Given the description of an element on the screen output the (x, y) to click on. 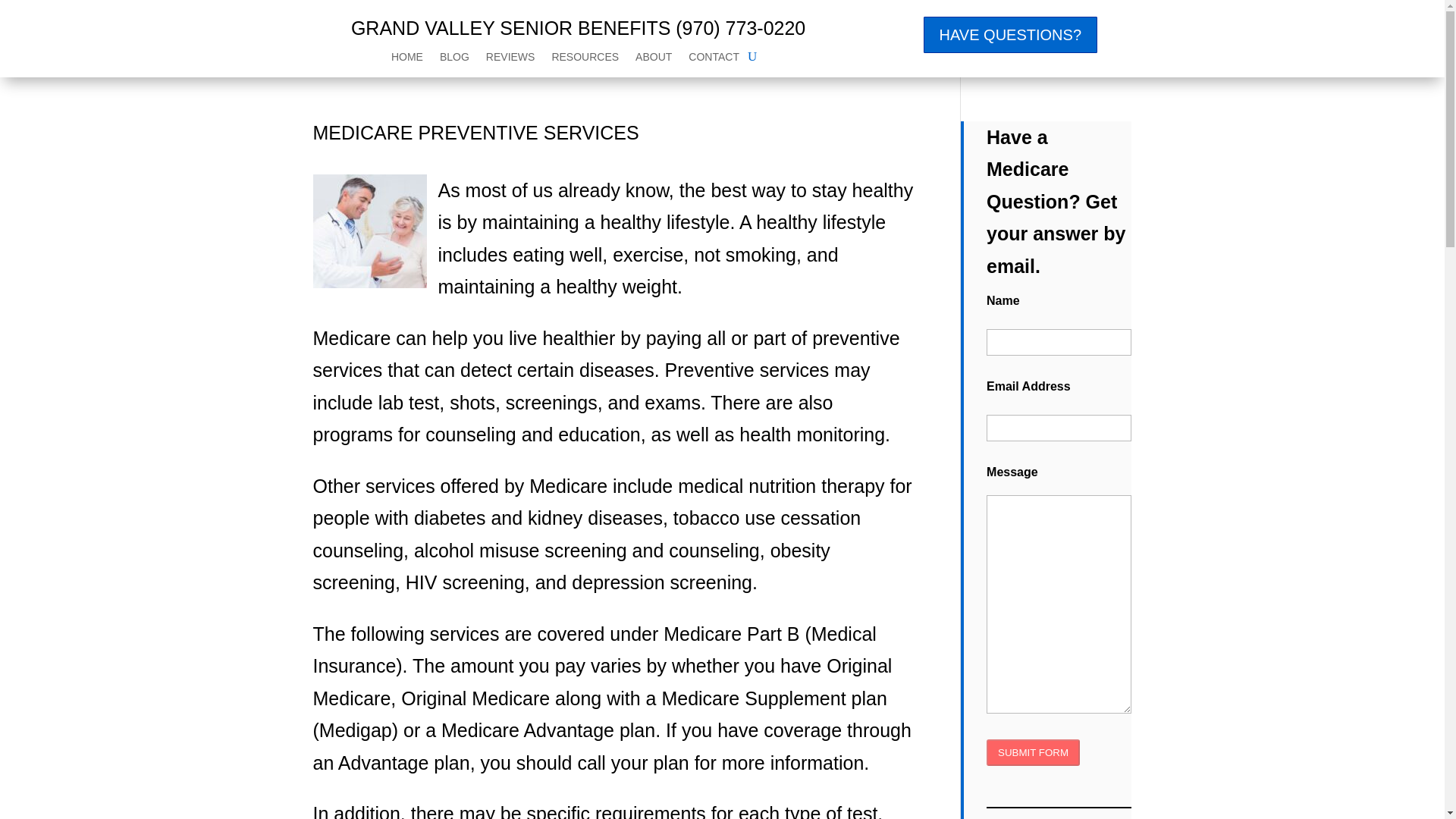
About Lew Barr (652, 59)
CONTACT (713, 59)
Medicare Insurance Resources (584, 59)
HAVE QUESTIONS? (1010, 34)
Submit Form (1033, 752)
RESOURCES (584, 59)
BLOG (453, 59)
HOME (407, 59)
Posts from my Blog (453, 59)
Submit Form (1033, 752)
